Given the description of an element on the screen output the (x, y) to click on. 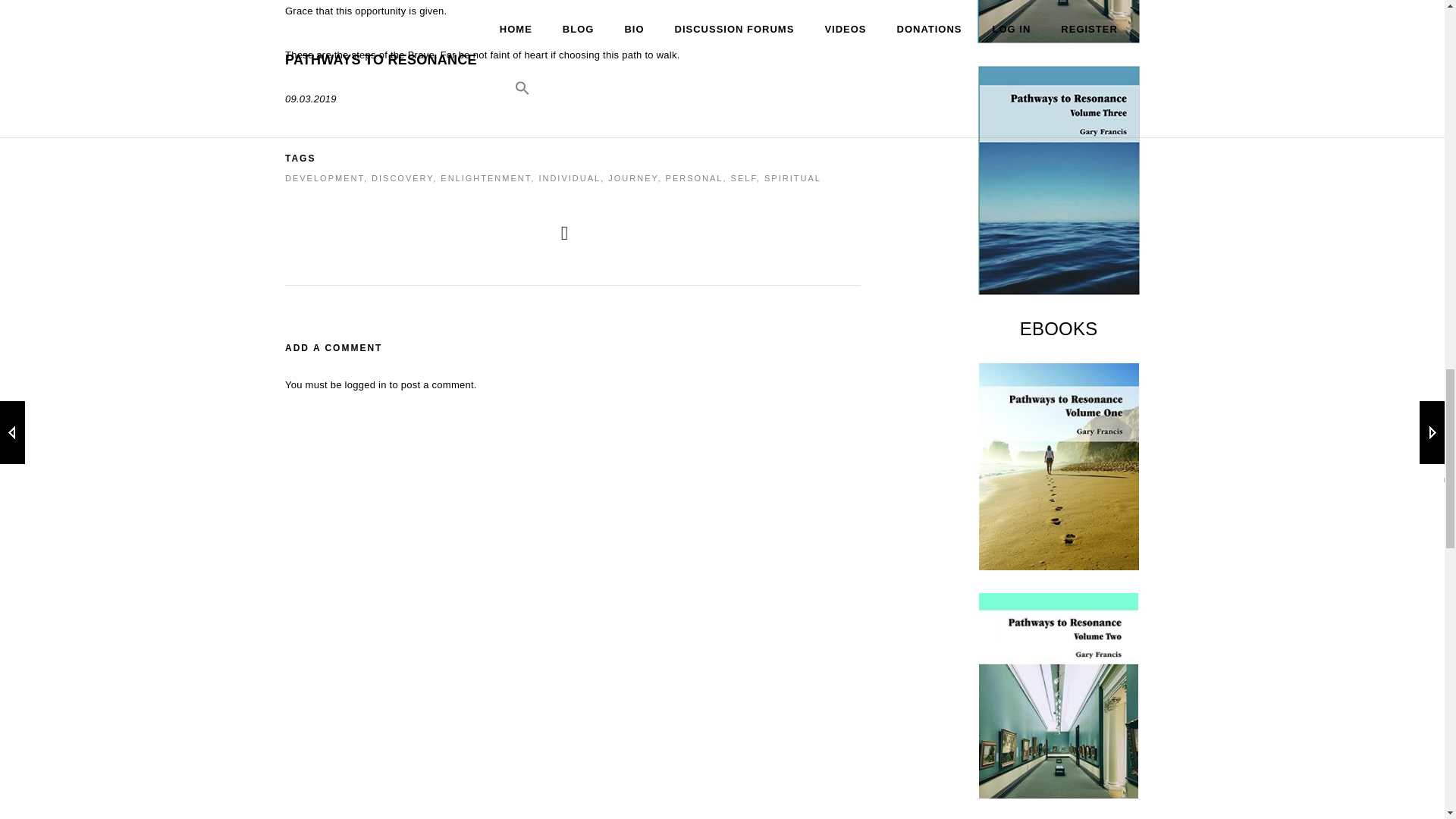
DEVELOPMENT (324, 177)
SPIRITUAL (792, 177)
ENLIGHTENMENT (486, 177)
JOURNEY (633, 177)
DISCOVERY (401, 177)
logged in (366, 384)
SELF (743, 177)
INDIVIDUAL (568, 177)
PERSONAL (694, 177)
